Given the description of an element on the screen output the (x, y) to click on. 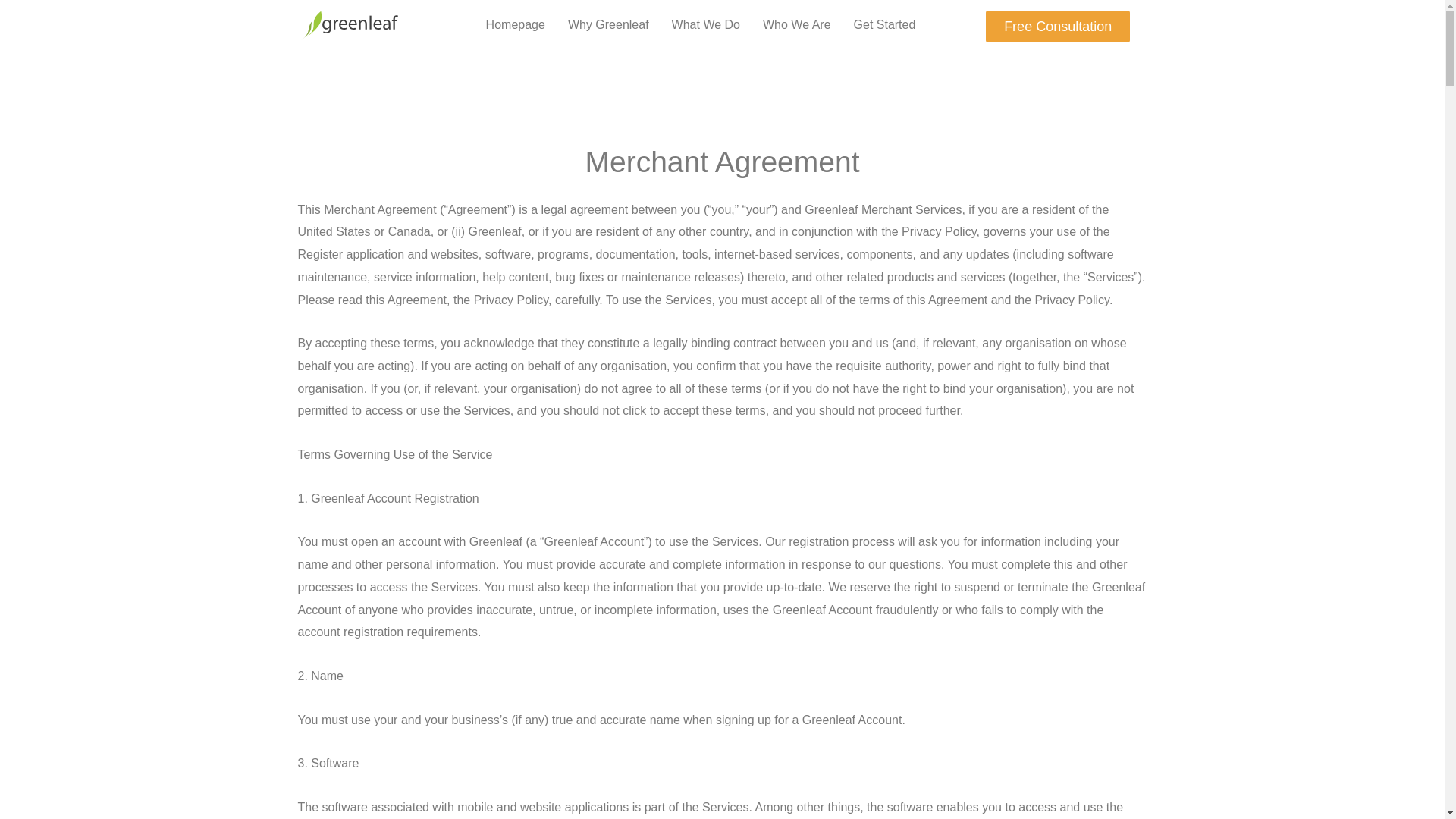
Homepage (515, 24)
greenleafLogo (348, 26)
Who We Are (797, 24)
Get Started (885, 24)
Why Greenleaf (608, 24)
Free Consultation (1057, 26)
What We Do (706, 24)
